Given the description of an element on the screen output the (x, y) to click on. 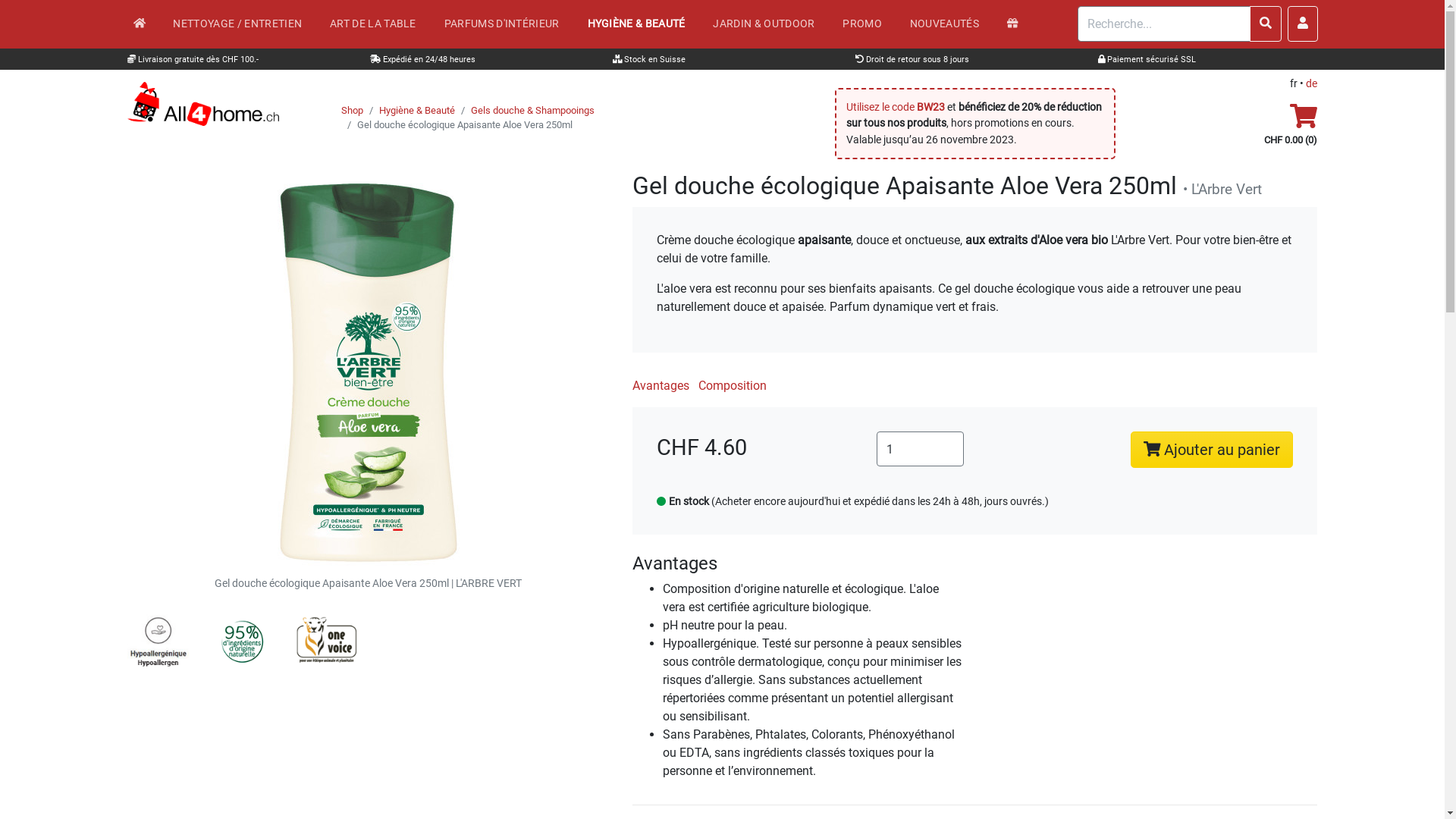
Composition Element type: text (732, 385)
JARDIN & OUTDOOR Element type: text (771, 23)
Avantages Element type: text (660, 385)
All4home.ch Element type: hover (147, 23)
Ajouter au panier Element type: text (1211, 449)
Shop Element type: text (352, 110)
Utilisez le code BW23 Element type: text (895, 106)
Afficher votre panier... Element type: hover (1303, 120)
Gels douche & Shampooings Element type: text (532, 110)
Avantages Element type: text (674, 563)
de Element type: text (1311, 83)
PROMO Element type: text (869, 23)
NETTOYAGE / ENTRETIEN Element type: text (244, 23)
ART DE LA TABLE Element type: text (380, 23)
